Given the description of an element on the screen output the (x, y) to click on. 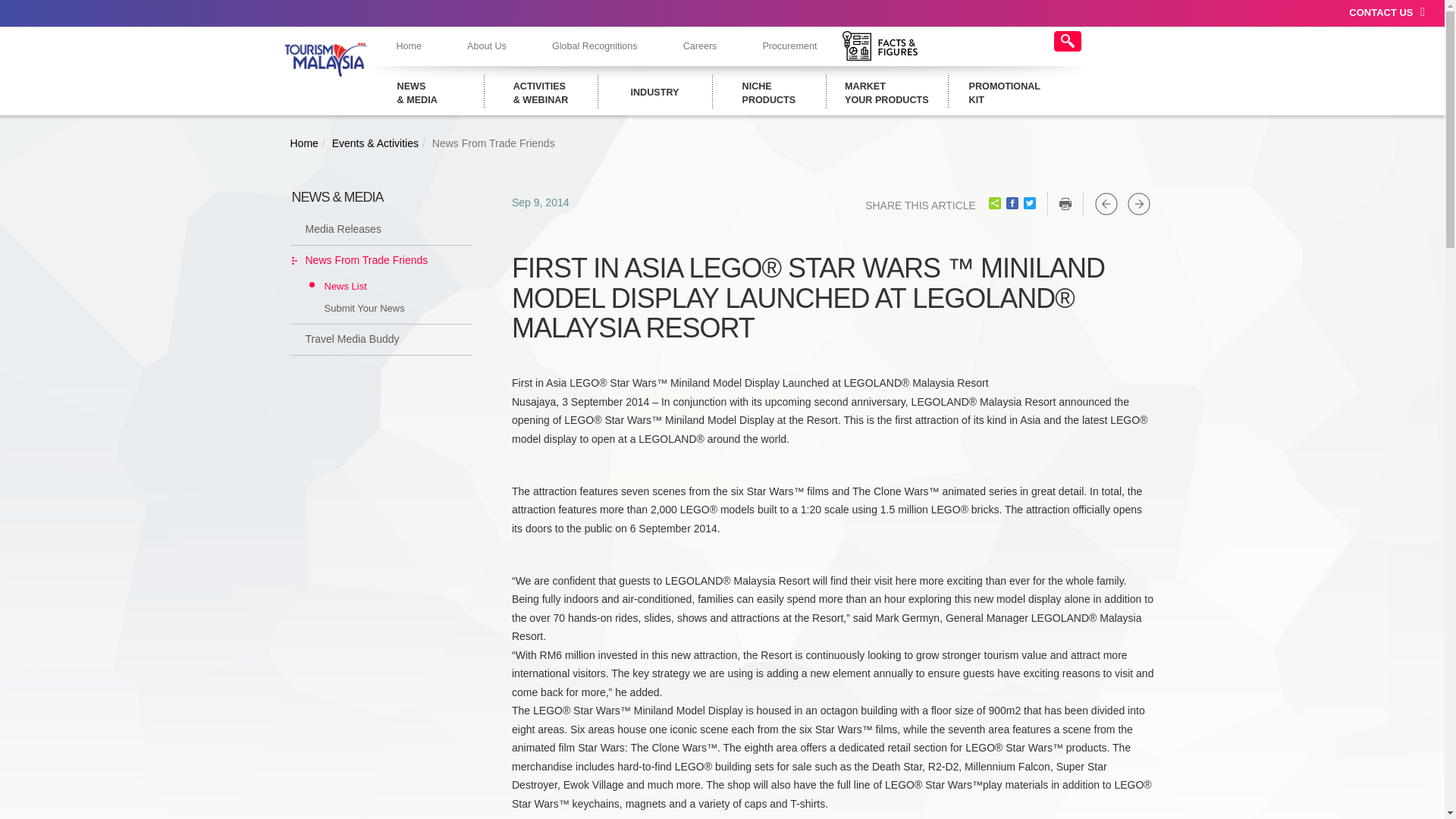
Global Recognitions (595, 46)
Home (408, 46)
INDUSTRY (769, 93)
Careers (654, 92)
CONTACT US (700, 46)
About Us (886, 93)
View Statistics (1386, 13)
Procurement (486, 46)
